Given the description of an element on the screen output the (x, y) to click on. 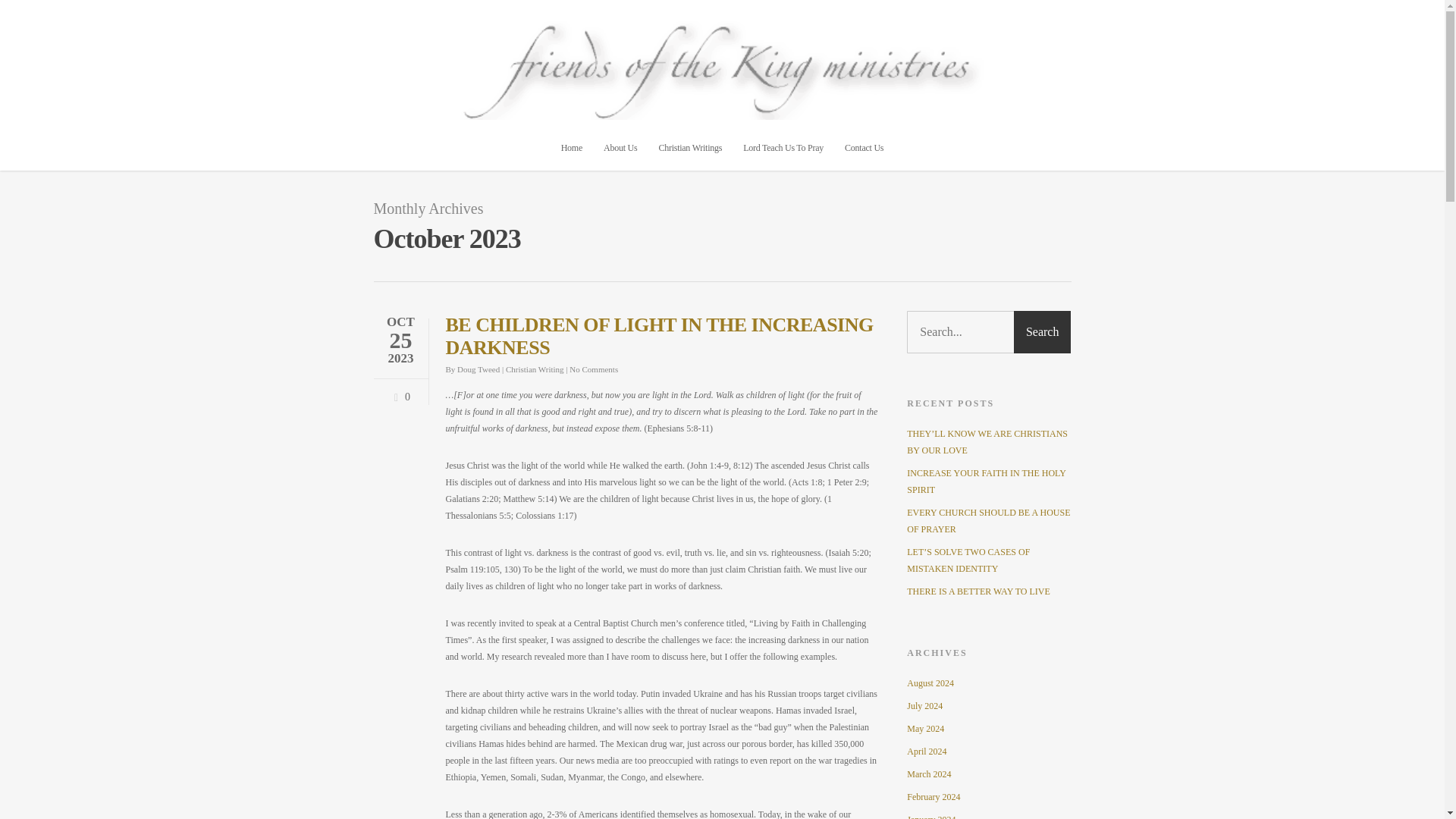
About Us (620, 151)
Search for: (988, 331)
Lord Teach Us To Pray (782, 151)
Christian Writings (689, 151)
Love this (398, 393)
0 (398, 393)
Doug Tweed (478, 368)
Posts by Doug Tweed (478, 368)
Search (1042, 331)
No Comments (593, 368)
